Given the description of an element on the screen output the (x, y) to click on. 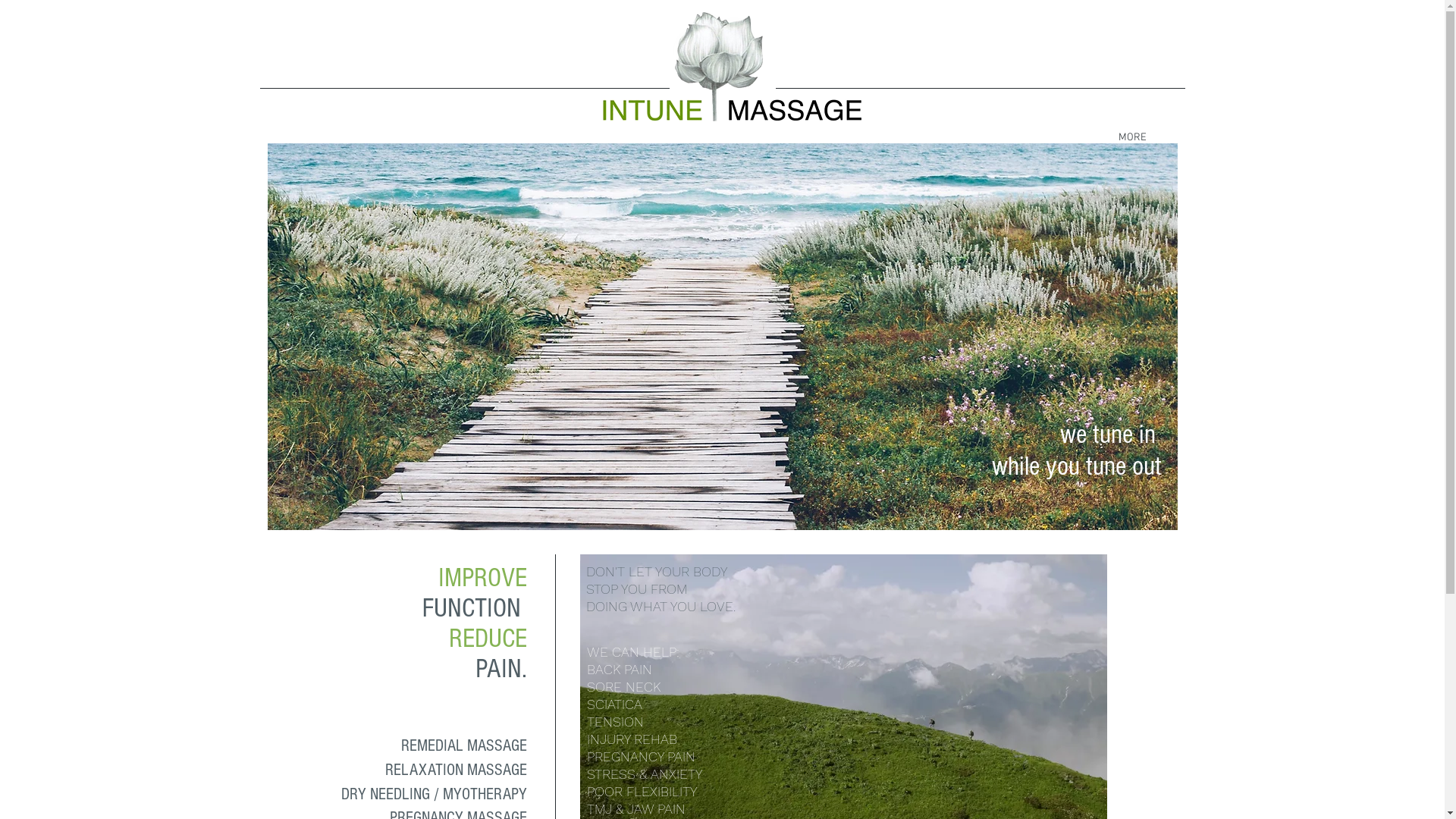
we tune in  Element type: text (1110, 434)
DON'T LET YOUR BODY  Element type: text (657, 571)
JAW Element type: text (639, 808)
while you  Element type: text (1038, 465)
IMPROVE
 FUNCTION 
REDUCE
PAIN. Element type: text (470, 623)
STRESS & ANXIETY Element type: text (644, 773)
BACK PAIN Element type: text (619, 668)
PAIN Element type: text (670, 808)
DOING WHAT YOU LOVE. Element type: text (659, 606)
STOP YOU FROM Element type: text (635, 588)
INJURY REHAB Element type: text (631, 738)
PREGNANCY PAIN Element type: text (640, 756)
TENSION Element type: text (614, 721)
TMJ Element type: text (598, 808)
SCIATICA Element type: text (614, 703)
WE CAN HELP: Element type: text (632, 651)
POOR FLEXIBILITY Element type: text (641, 791)
SORE NECK Element type: text (623, 686)
tune out Element type: text (1123, 466)
